Given the description of an element on the screen output the (x, y) to click on. 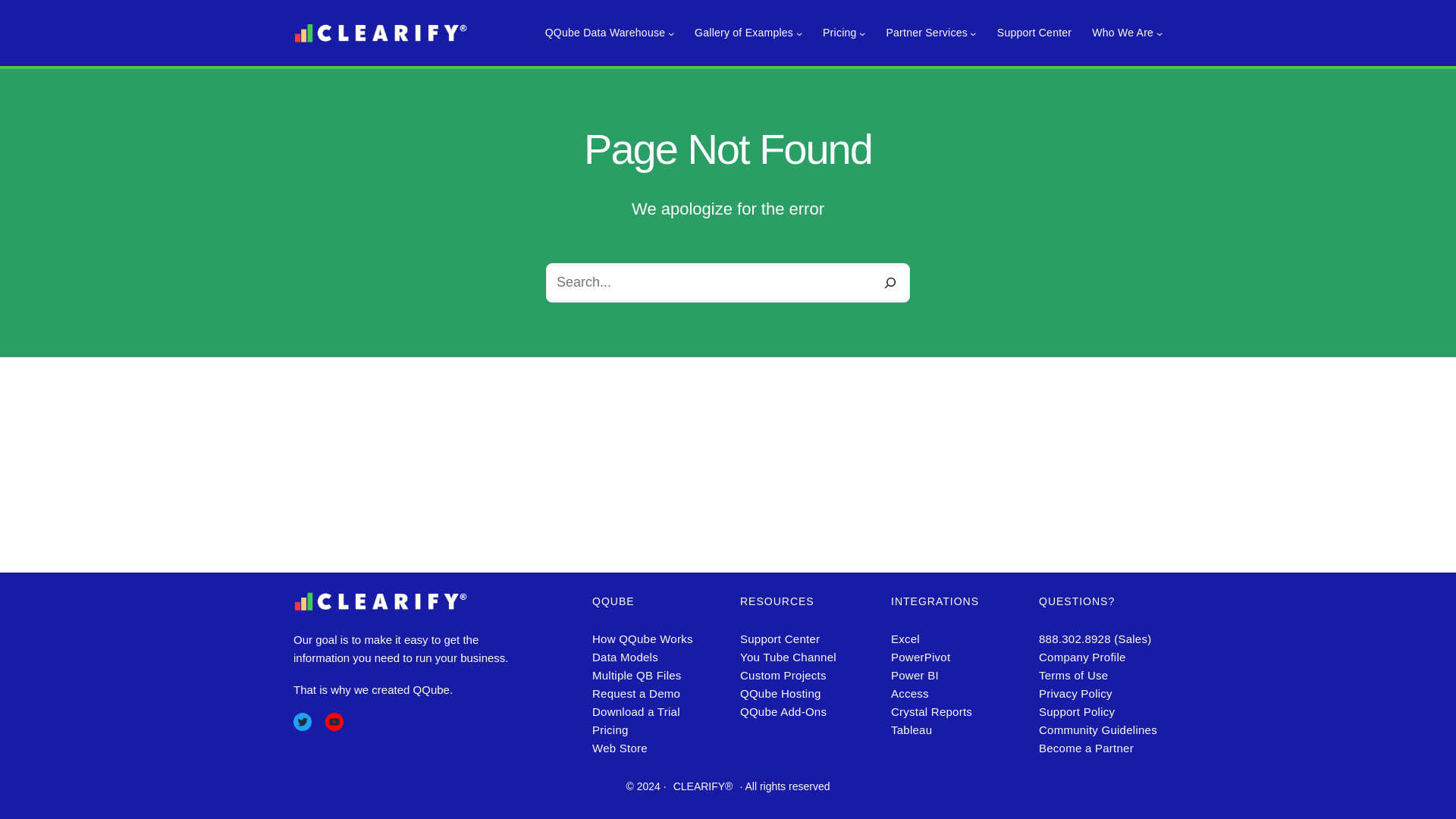
Support Center (1034, 32)
Who We Are (1122, 32)
QQube Data Warehouse (604, 32)
QQube Starter and Real World Examples (743, 32)
Twitter (302, 721)
LInks for Using QQube (604, 32)
Partner Services (925, 32)
Gallery of Examples (743, 32)
Pricing (839, 32)
